Given the description of an element on the screen output the (x, y) to click on. 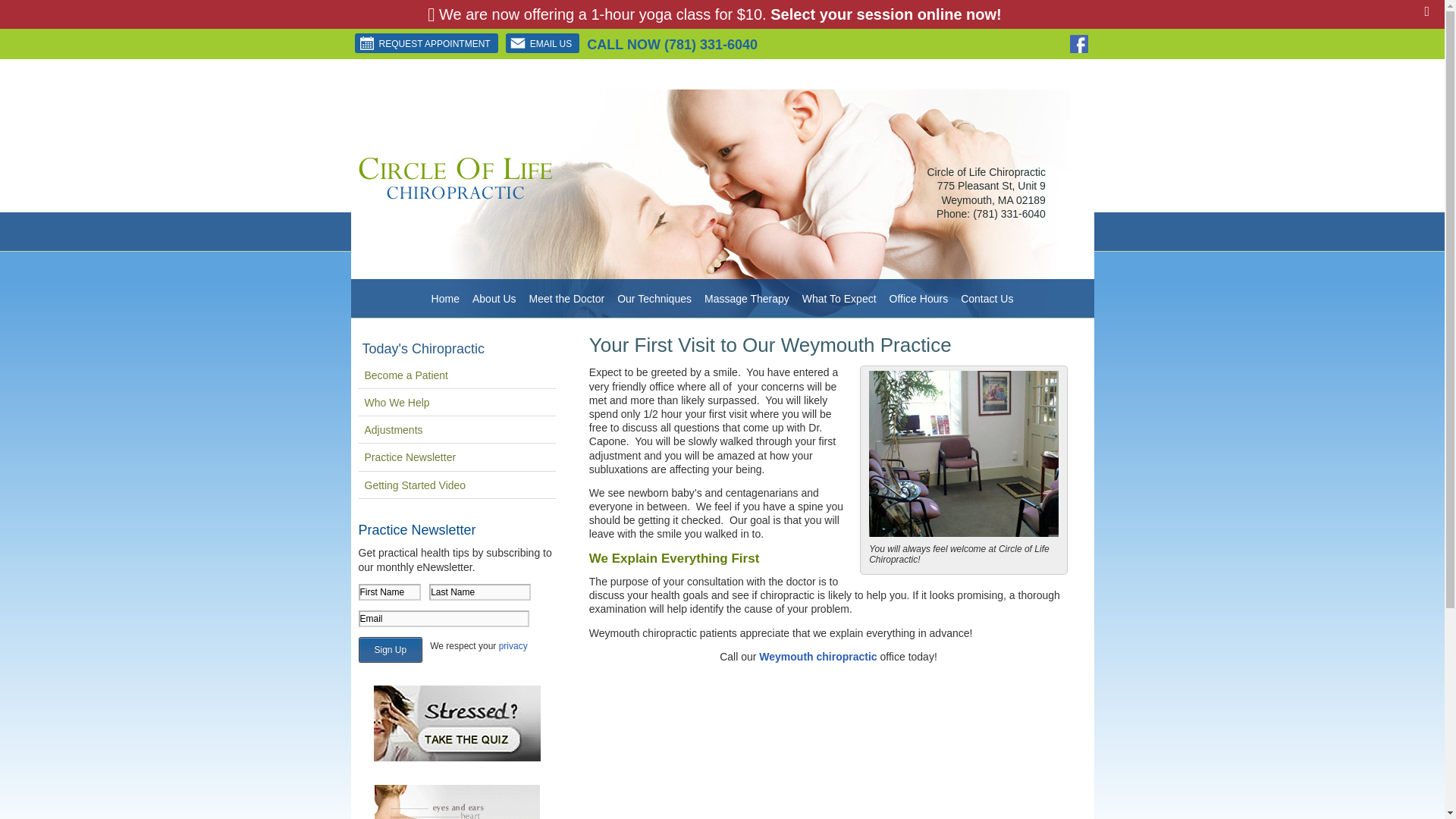
Our Techniques (654, 298)
Contact Us (817, 656)
Last Name (480, 591)
Sign Up (390, 649)
Facebook Link (1077, 44)
Welcome to Circle of Life Chiropractic (454, 195)
Become a Patient (456, 375)
About Us (493, 298)
Massage Therapy (747, 298)
Contact (542, 43)
Practice Newsletter (456, 456)
First Name (389, 591)
REQUEST APPOINTMENT (426, 43)
Home (445, 298)
Select your session online now! (885, 13)
